Given the description of an element on the screen output the (x, y) to click on. 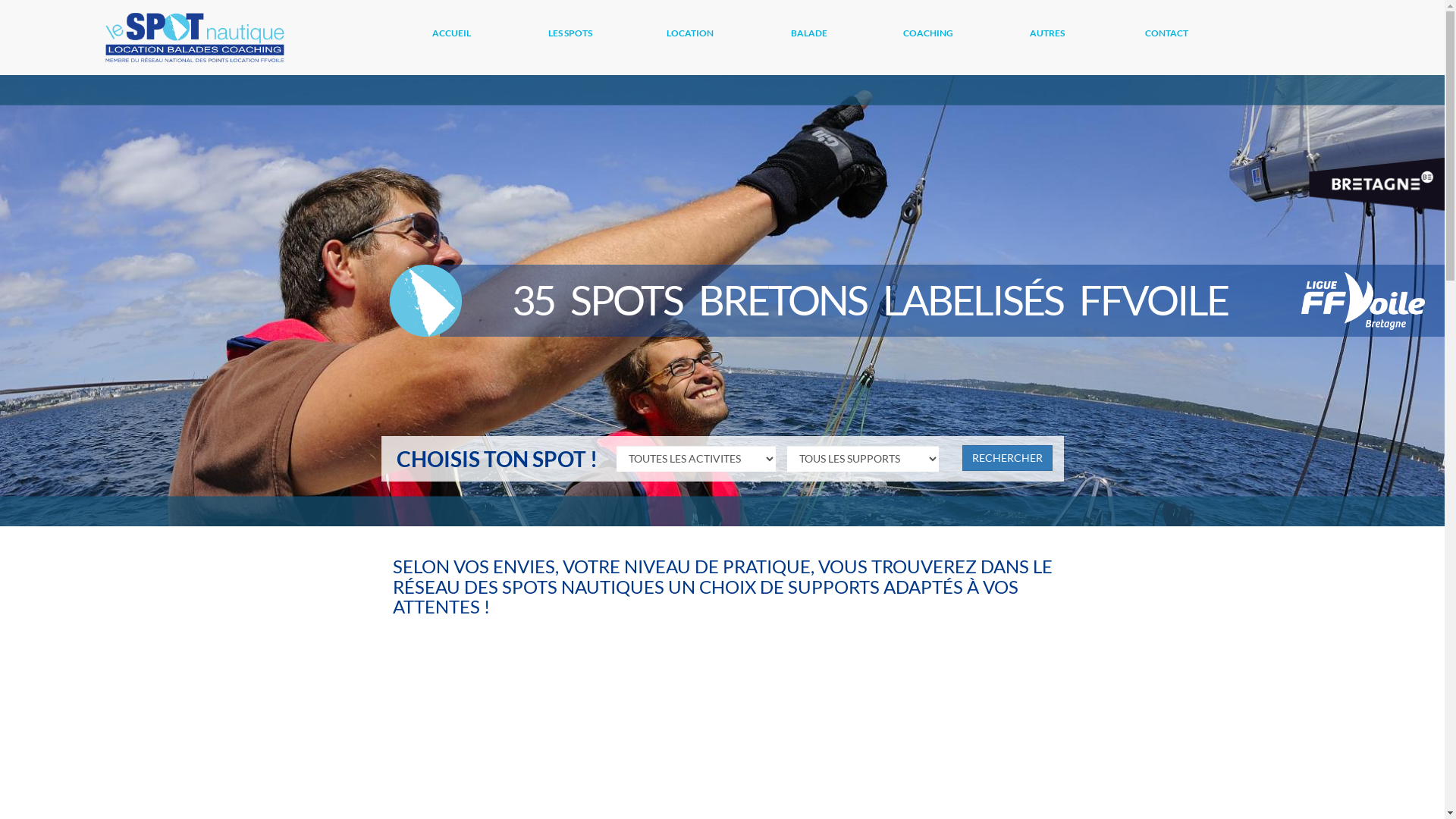
CONTACT   Element type: text (1167, 36)
LES SPOTS   Element type: text (571, 36)
ACCUEIL   Element type: text (452, 36)
AUTRES   Element type: text (1048, 36)
BALADE   Element type: text (809, 36)
COACHING   Element type: text (929, 36)
LOCATION   Element type: text (690, 36)
RECHERCHER Element type: text (1006, 457)
